Given the description of an element on the screen output the (x, y) to click on. 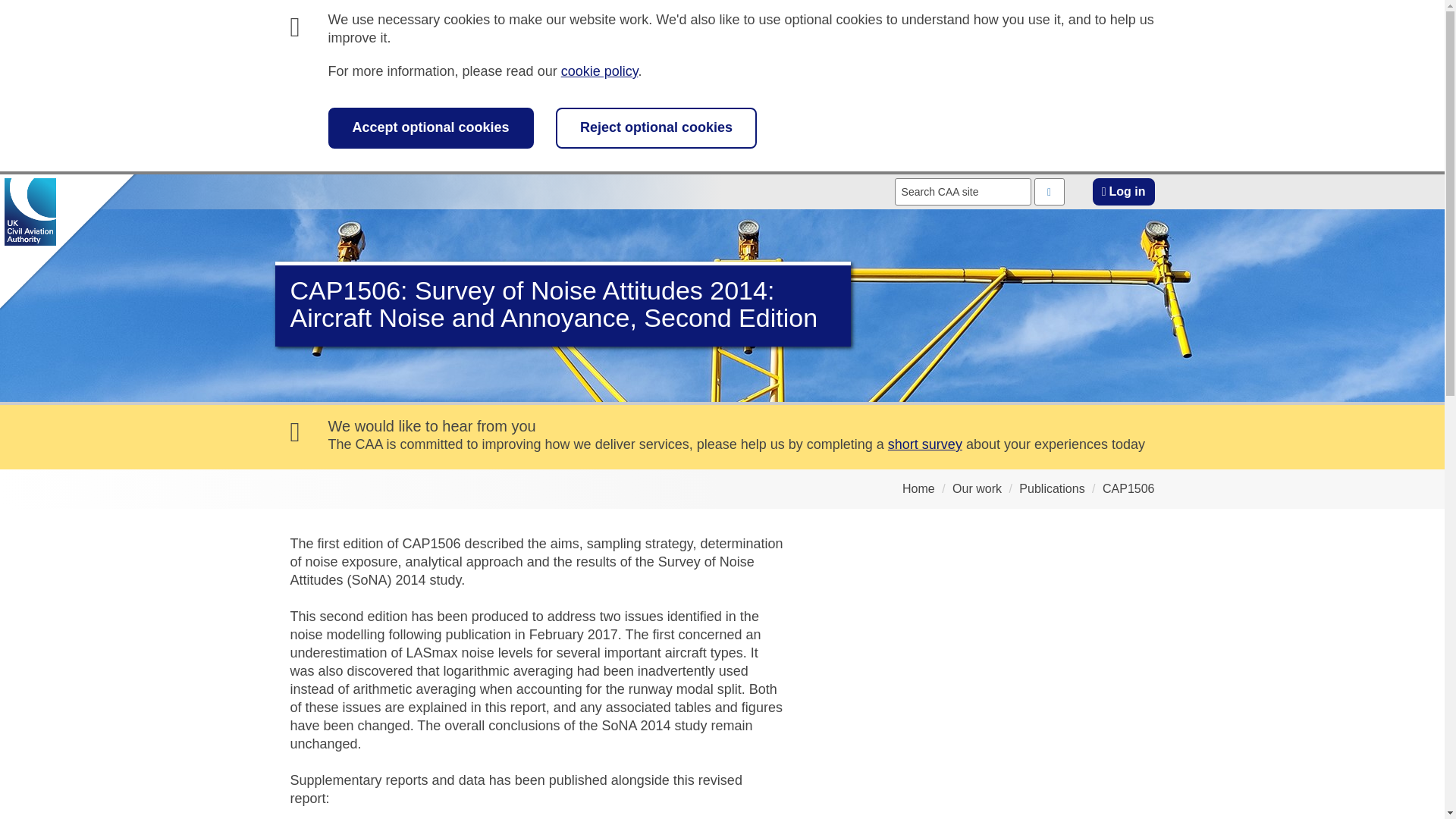
Log in (1123, 191)
cookie policy (599, 70)
Reject optional cookies (656, 127)
Publications (1051, 488)
Customer experience survey (925, 444)
CAP1506 (1128, 488)
short survey (925, 444)
Search (1048, 191)
Accept optional cookies (429, 127)
Our work (976, 488)
Home (918, 488)
